Given the description of an element on the screen output the (x, y) to click on. 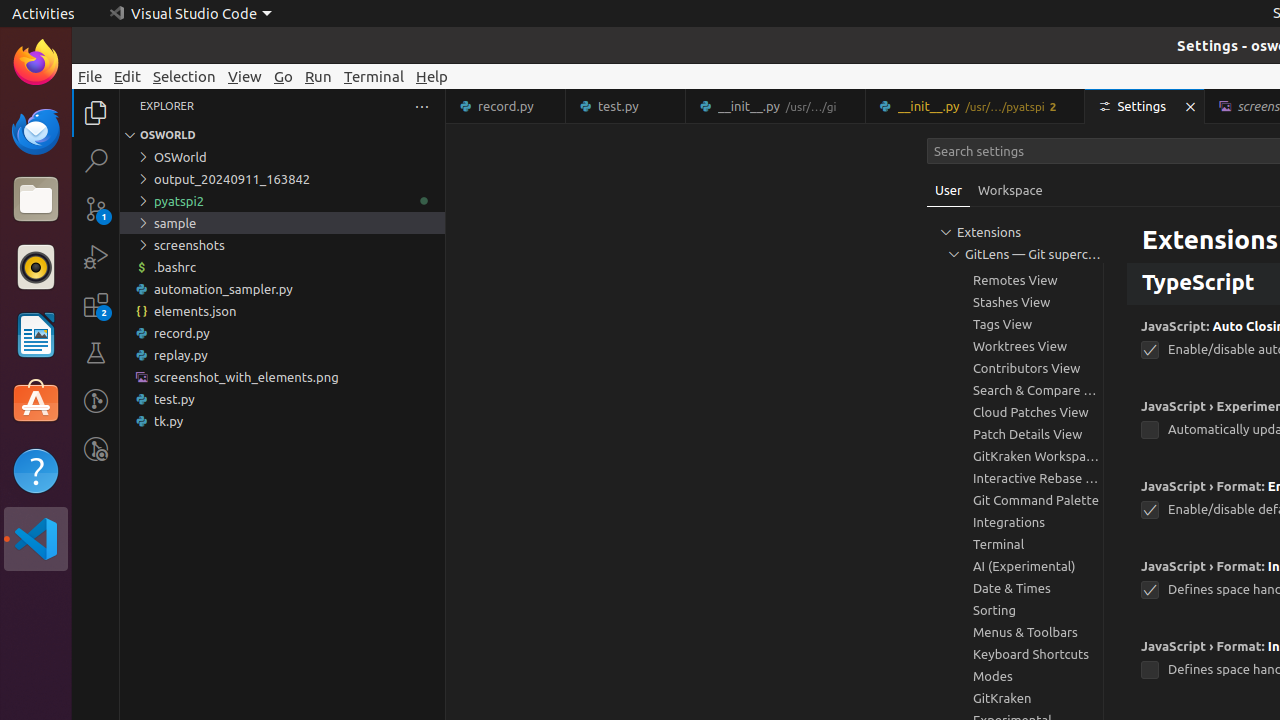
Explorer (Ctrl+Shift+E) Element type: page-tab (96, 113)
Visual File History, group Element type: tree-item (1015, 214)
Edit Element type: push-button (127, 76)
record.py Element type: page-tab (506, 106)
javascript.format.insertSpaceAfterConstructor Element type: check-box (1150, 670)
